Given the description of an element on the screen output the (x, y) to click on. 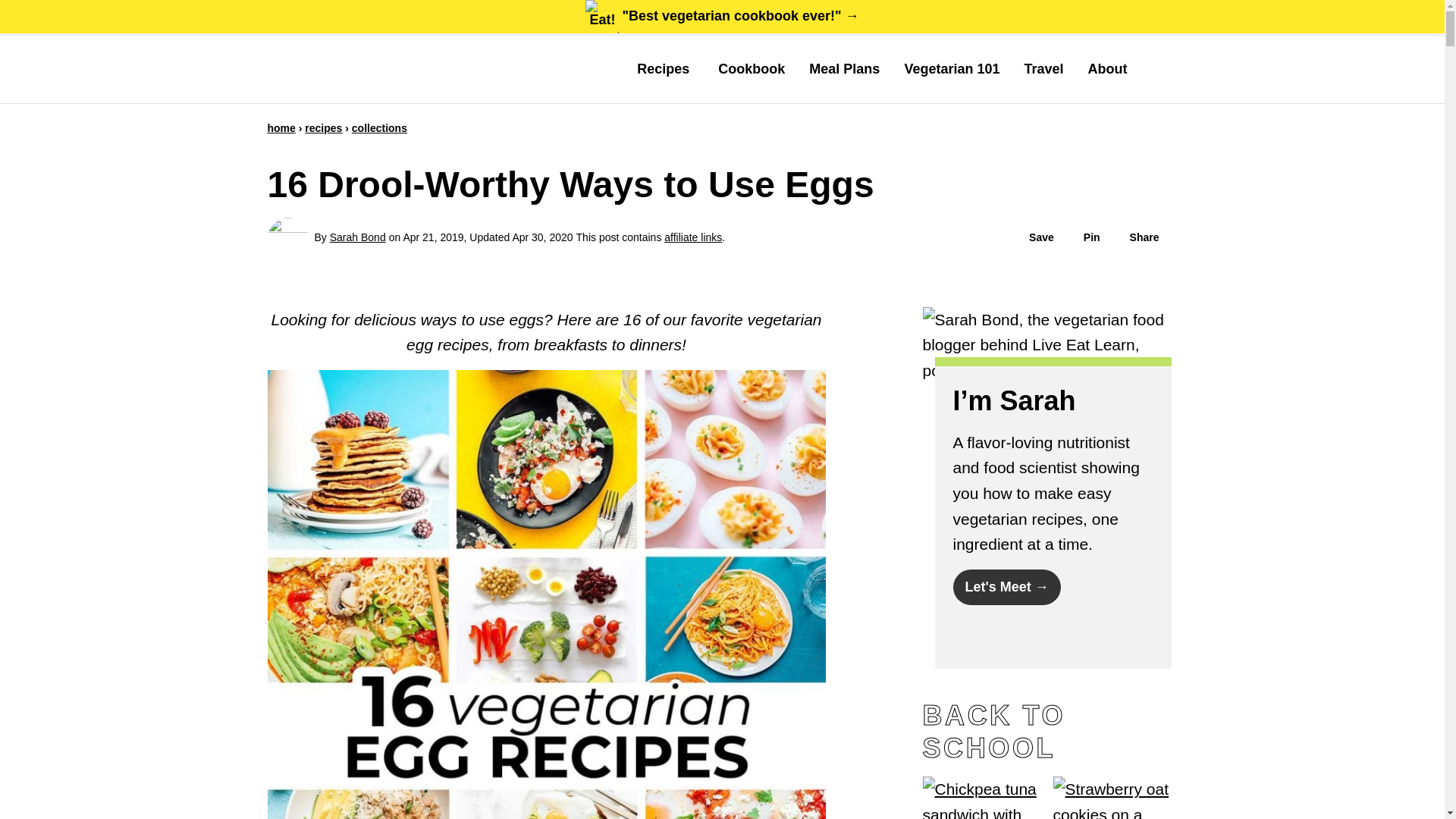
Share on Facebook (1136, 237)
Recipes (665, 69)
Share on Pinterest (1084, 237)
